Given the description of an element on the screen output the (x, y) to click on. 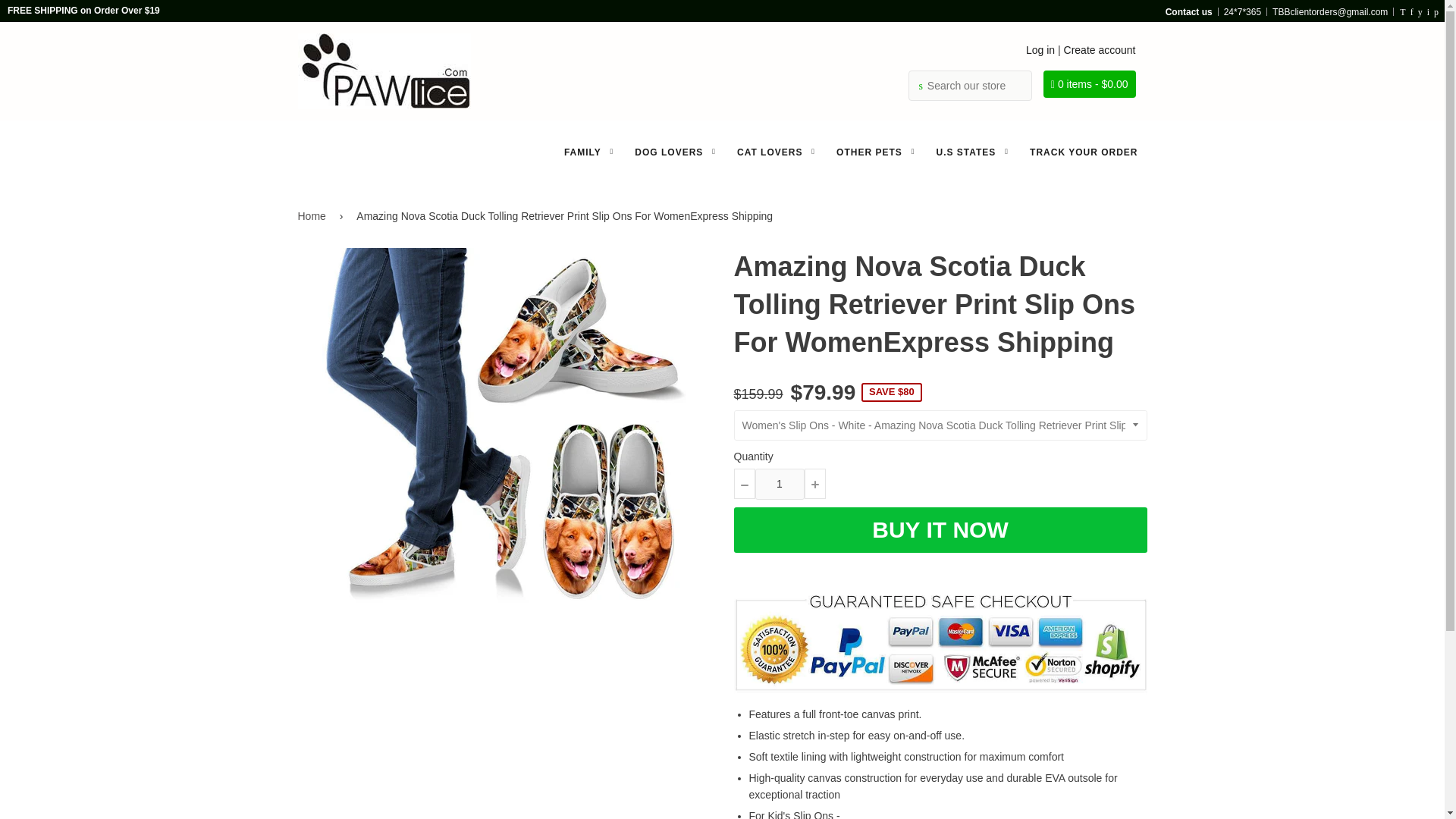
1 (780, 483)
Back to the frontpage (313, 216)
